Given the description of an element on the screen output the (x, y) to click on. 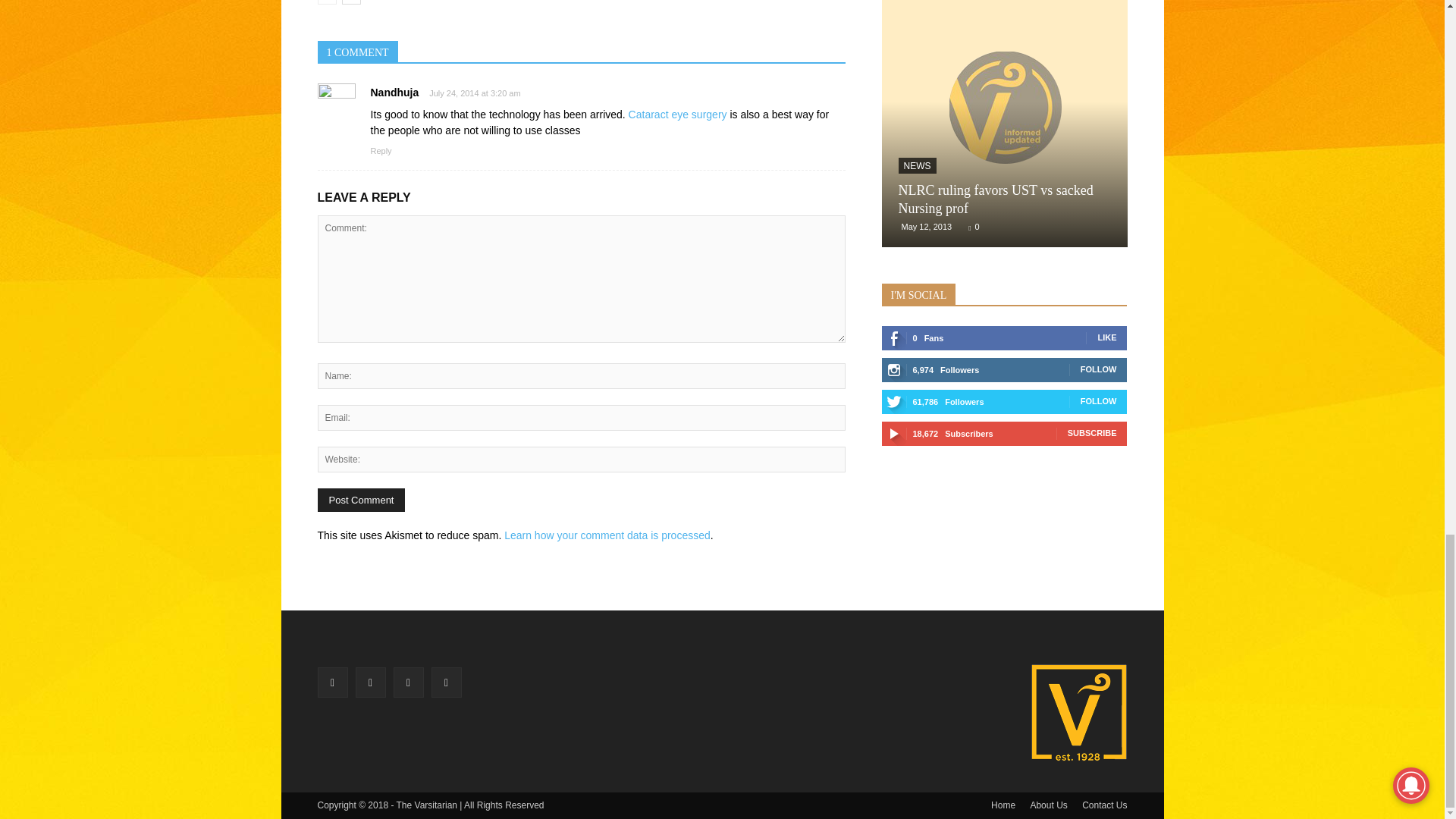
Post Comment (360, 499)
